Given the description of an element on the screen output the (x, y) to click on. 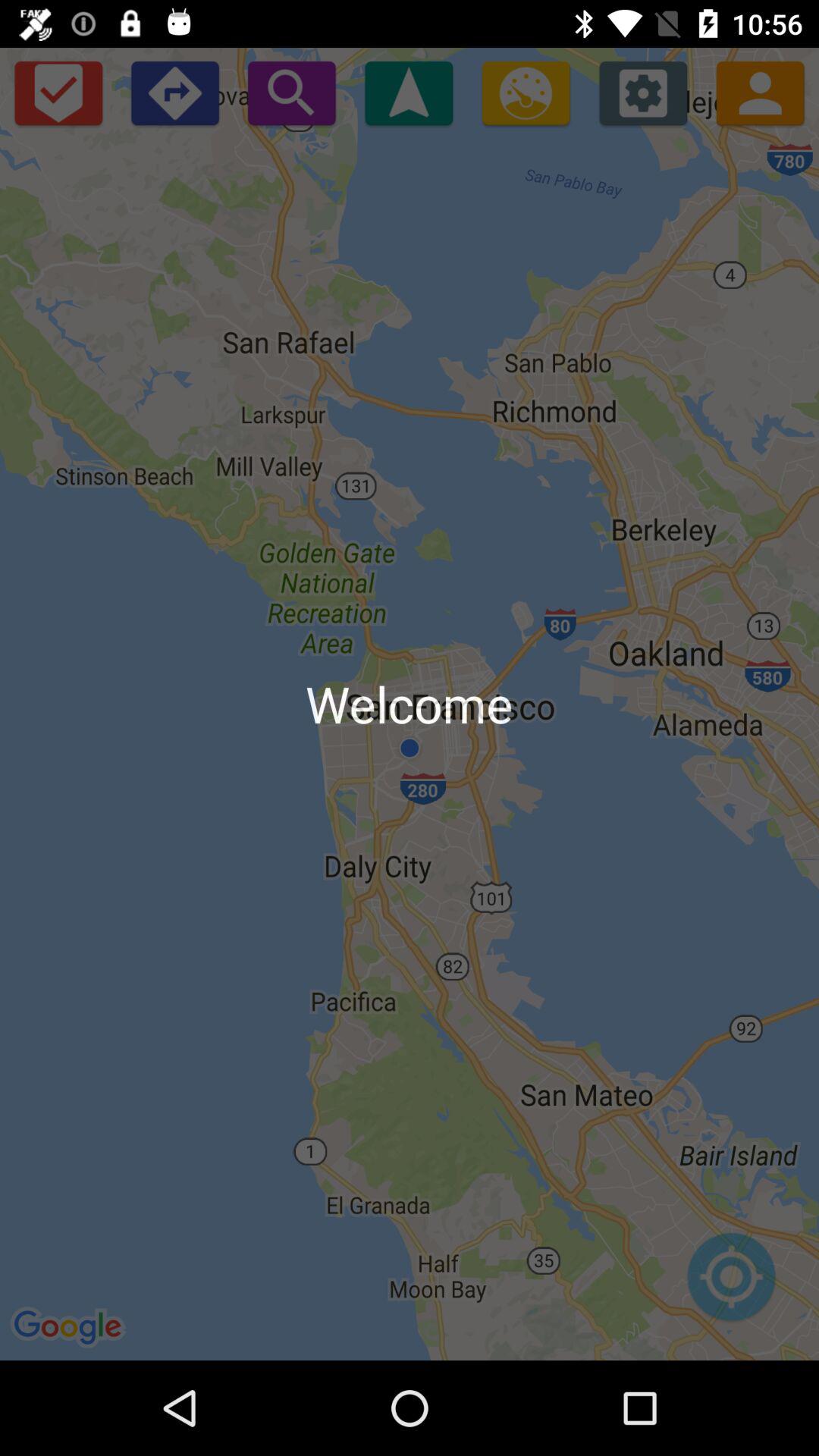
settings option (642, 92)
